Given the description of an element on the screen output the (x, y) to click on. 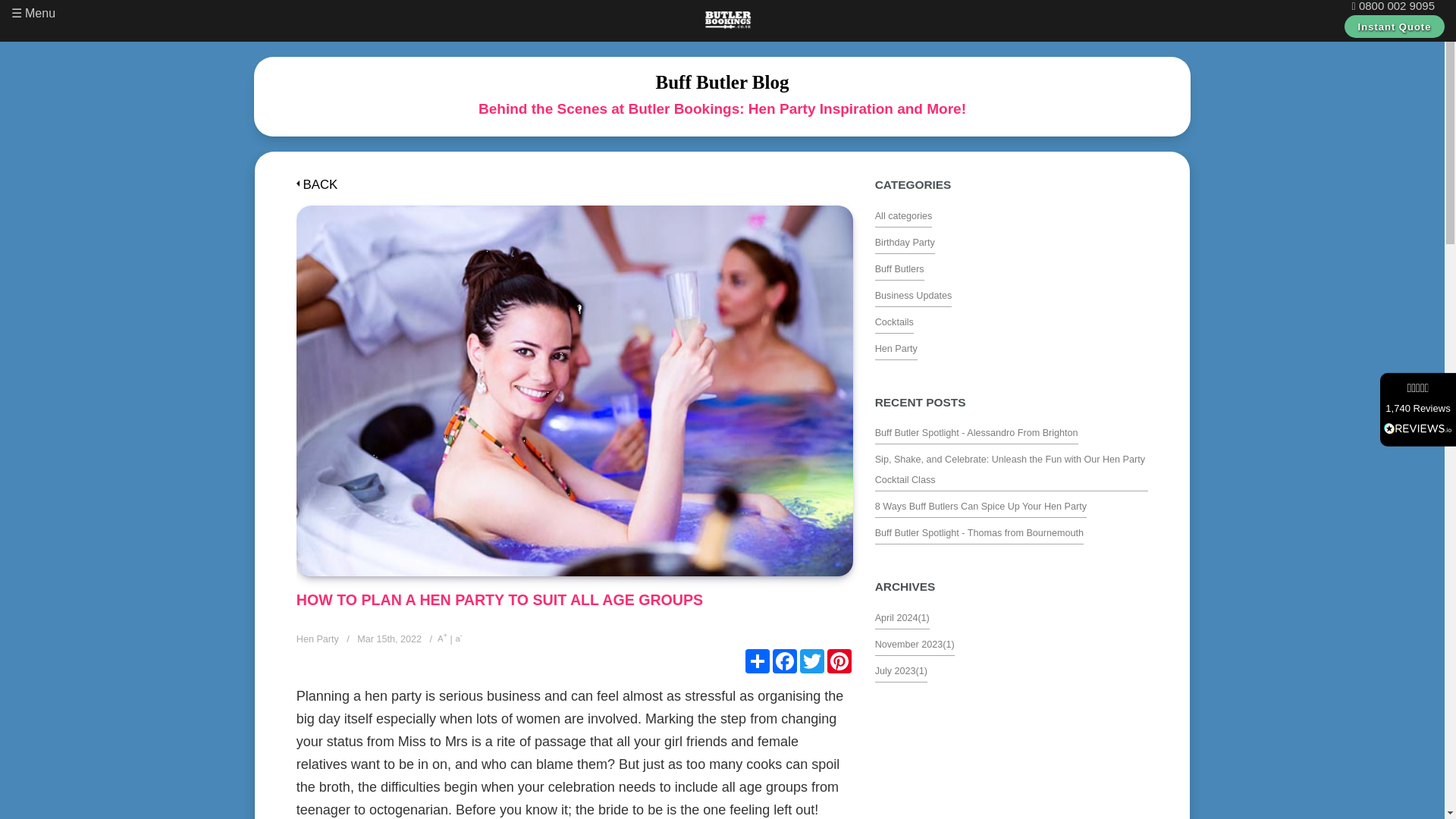
Buff Butler Spotlight - Alessandro From Brighton (976, 430)
Cocktails (894, 320)
Hen Party (896, 346)
BACK (317, 184)
Facebook (784, 661)
8 Ways Buff Butlers Can Spice Up Your Hen Party (980, 504)
Buff Butlers (899, 266)
Business Updates (913, 293)
Birthday Party (904, 240)
All categories (904, 213)
4.9 Stars (1417, 387)
Pinterest (839, 661)
Twitter (811, 661)
Buff Butler Spotlight - Thomas from Bournemouth (979, 530)
